Given the description of an element on the screen output the (x, y) to click on. 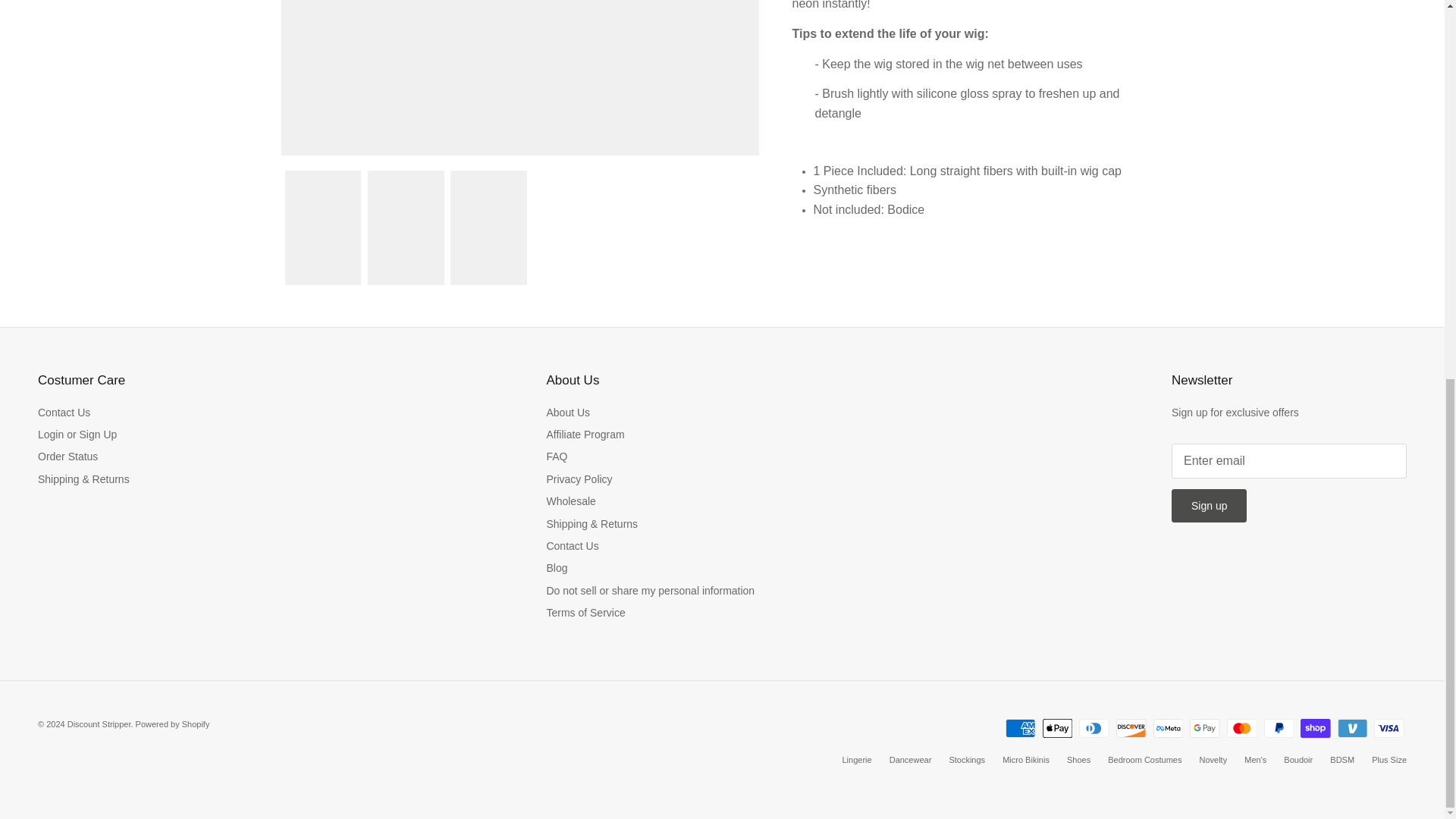
Discover (1130, 728)
Visa (1388, 728)
PayPal (1277, 728)
Meta Pay (1168, 728)
Shop Pay (1315, 728)
Google Pay (1204, 728)
Venmo (1352, 728)
Mastercard (1241, 728)
American Express (1020, 728)
Apple Pay (1057, 728)
Diners Club (1093, 728)
